Given the description of an element on the screen output the (x, y) to click on. 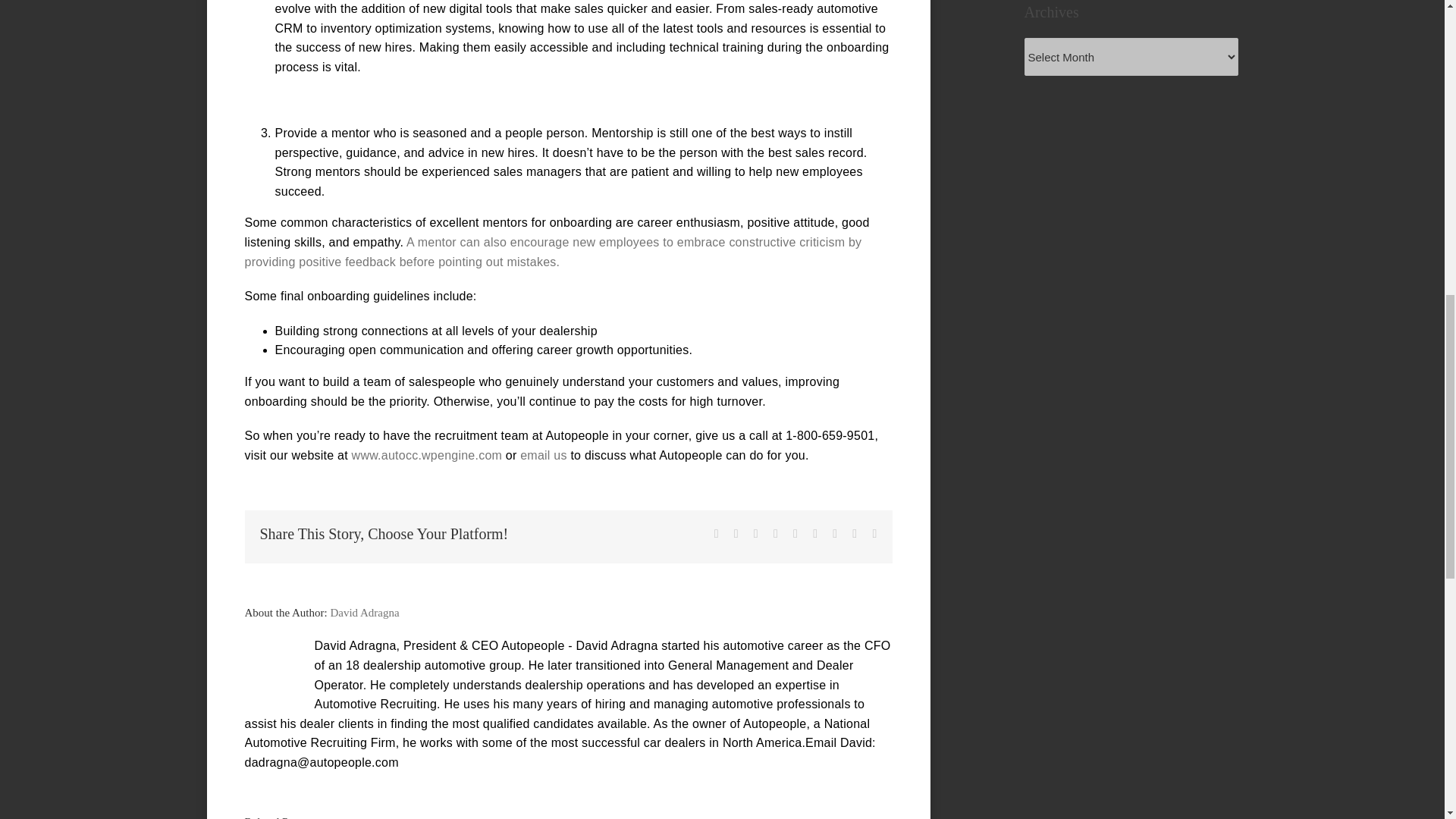
www.autocc.wpengine.com (427, 454)
Posts by David Adragna (364, 612)
David Adragna (364, 612)
email us (543, 454)
